Given the description of an element on the screen output the (x, y) to click on. 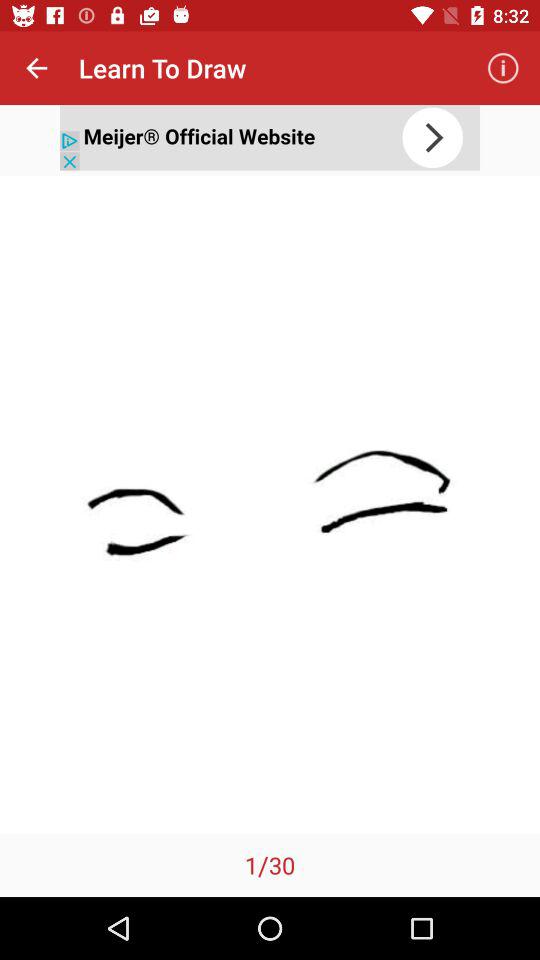
go to advertisement (270, 137)
